Given the description of an element on the screen output the (x, y) to click on. 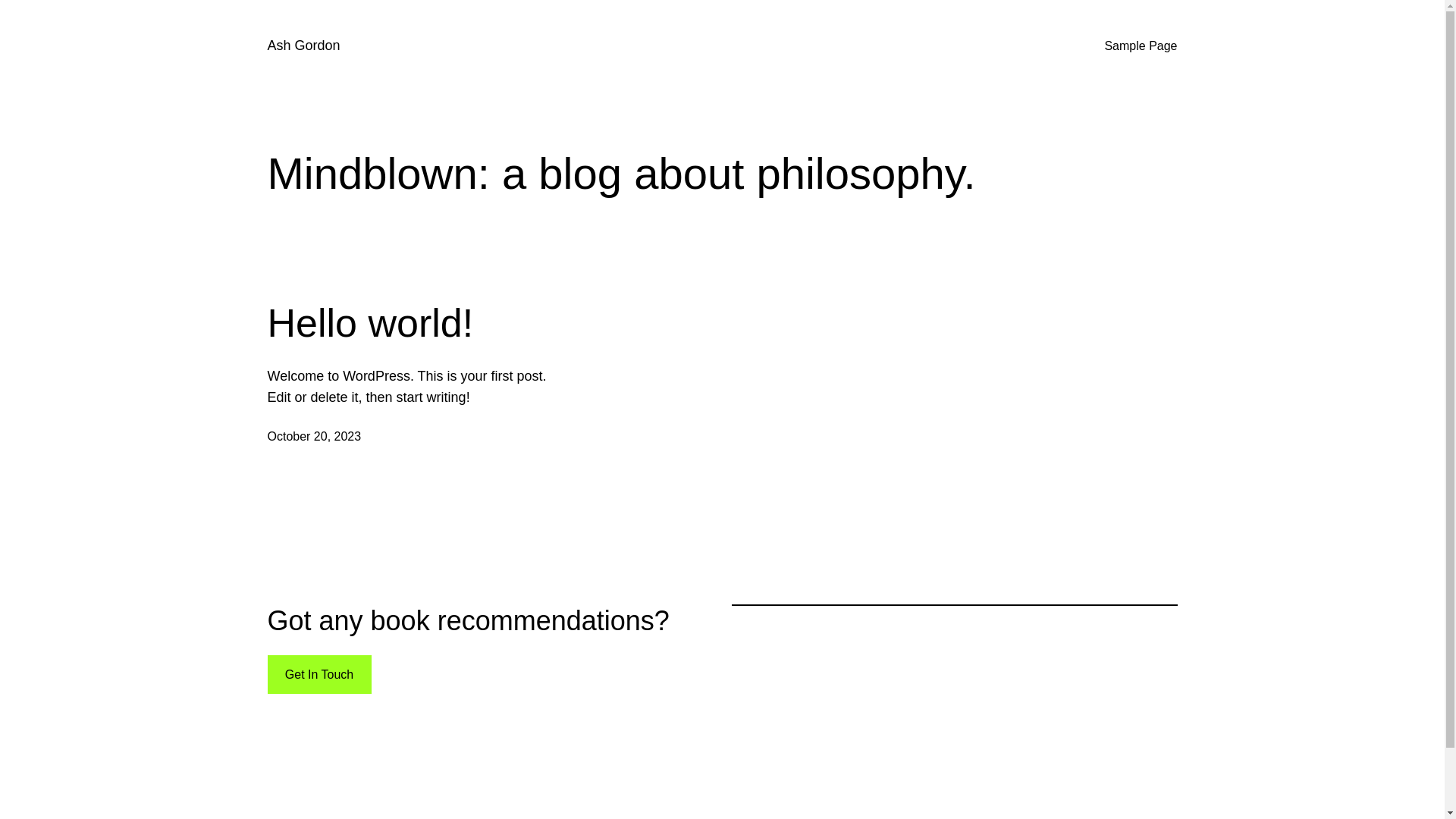
Hello world! Element type: text (369, 322)
October 20, 2023 Element type: text (313, 435)
Ash Gordon Element type: text (302, 45)
Sample Page Element type: text (1140, 46)
Get In Touch Element type: text (318, 674)
